Given the description of an element on the screen output the (x, y) to click on. 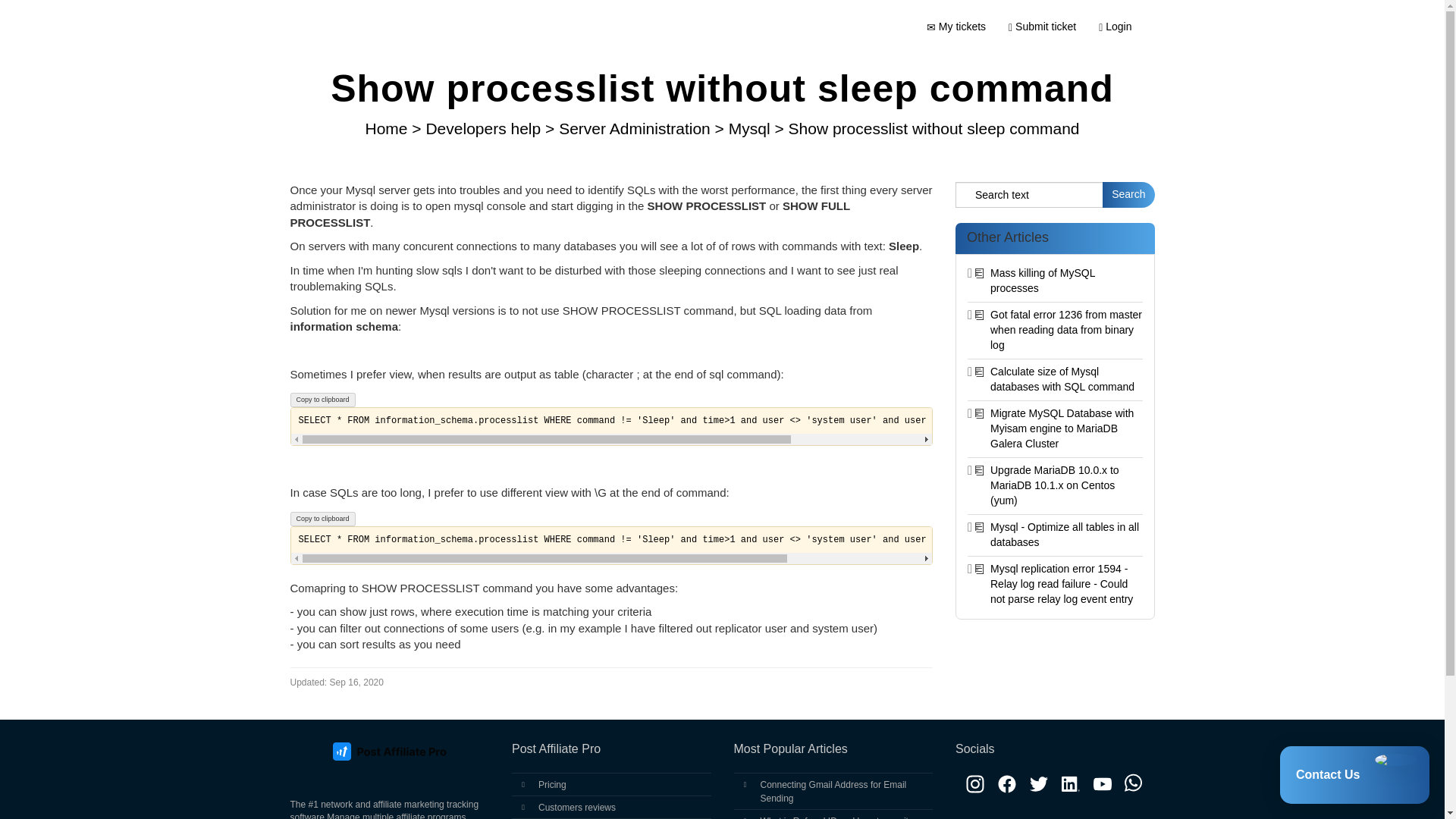
Connecting Gmail Address for Email Sending (832, 791)
Calculate size of Mysql databases with SQL command (1062, 379)
Mysql - Optimize all tables in all databases (1064, 533)
What is Referral ID and how to use it (833, 817)
Calculate size of Mysql databases with SQL command (1062, 379)
Developers help (484, 128)
Home (388, 128)
Search text (1029, 194)
